Given the description of an element on the screen output the (x, y) to click on. 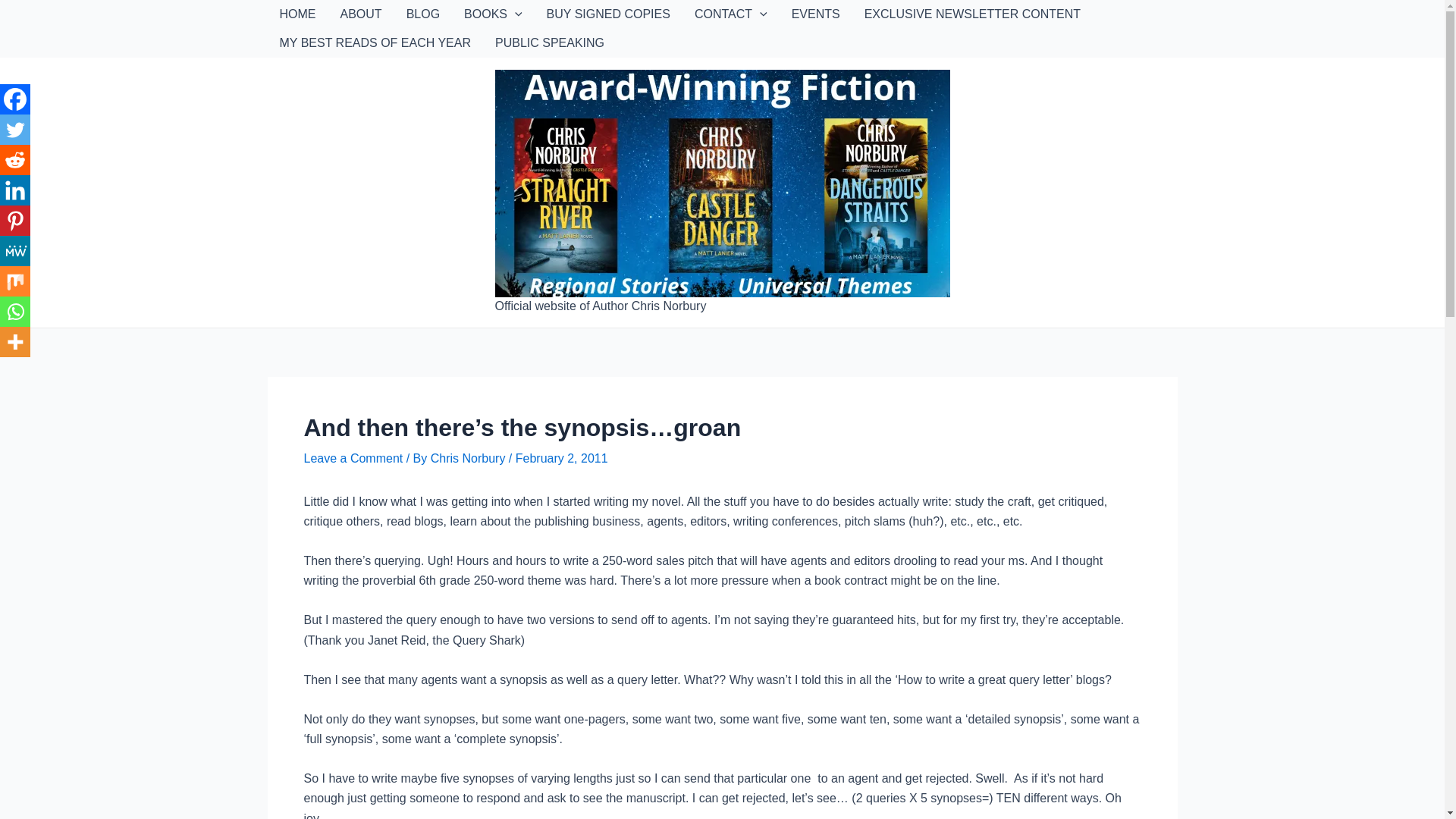
BUY SIGNED COPIES (608, 14)
HOME (296, 14)
Whatsapp (15, 311)
EXCLUSIVE NEWSLETTER CONTENT (972, 14)
Twitter (15, 129)
EVENTS (814, 14)
PUBLIC SPEAKING (549, 42)
CONTACT (730, 14)
MY BEST READS OF EACH YEAR (374, 42)
Mix (15, 281)
